Given the description of an element on the screen output the (x, y) to click on. 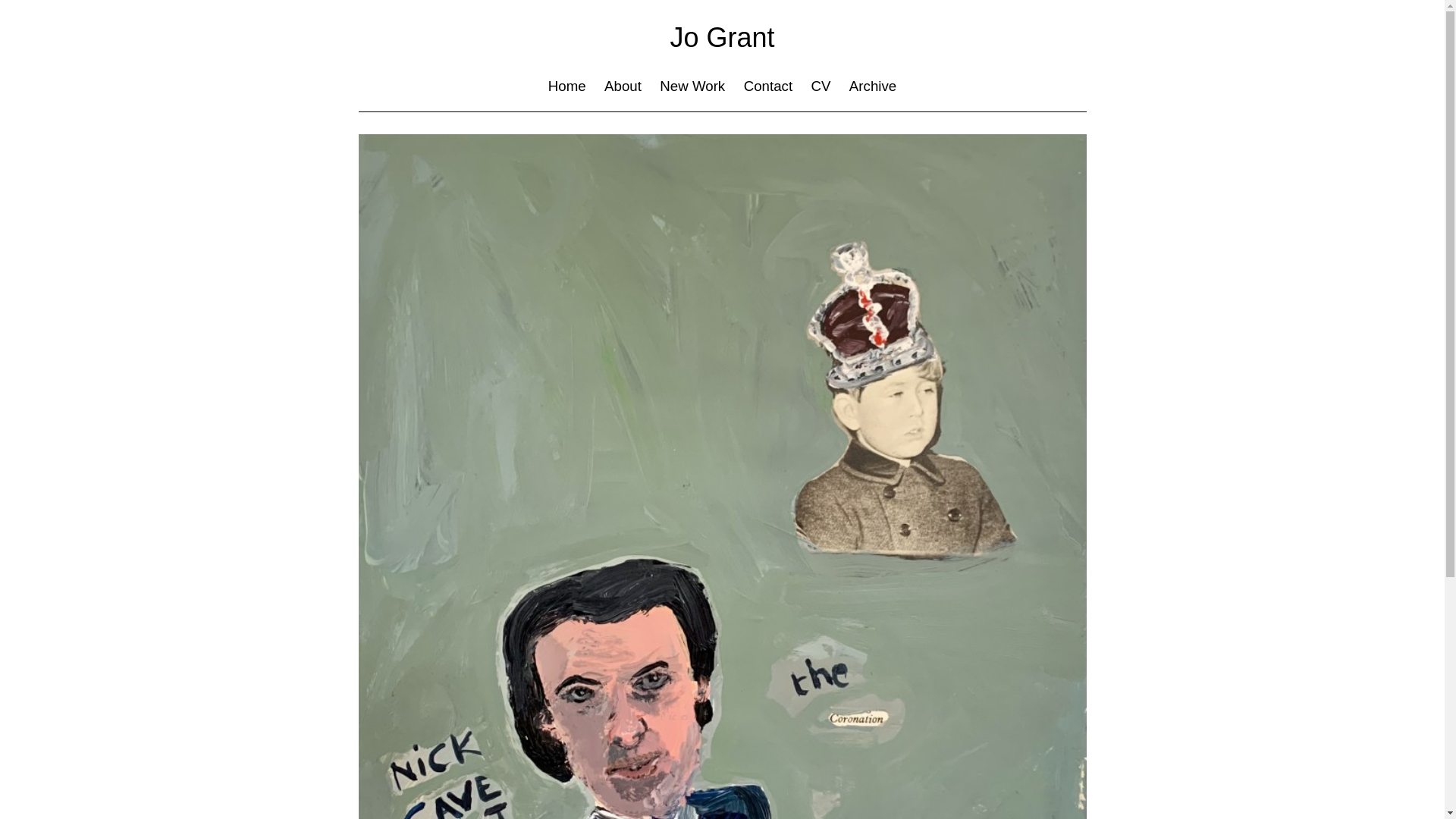
Contact Element type: text (767, 86)
Home Element type: text (567, 86)
Archive Element type: text (872, 86)
CV Element type: text (822, 86)
New Work Element type: text (691, 86)
About Element type: text (622, 86)
